Given the description of an element on the screen output the (x, y) to click on. 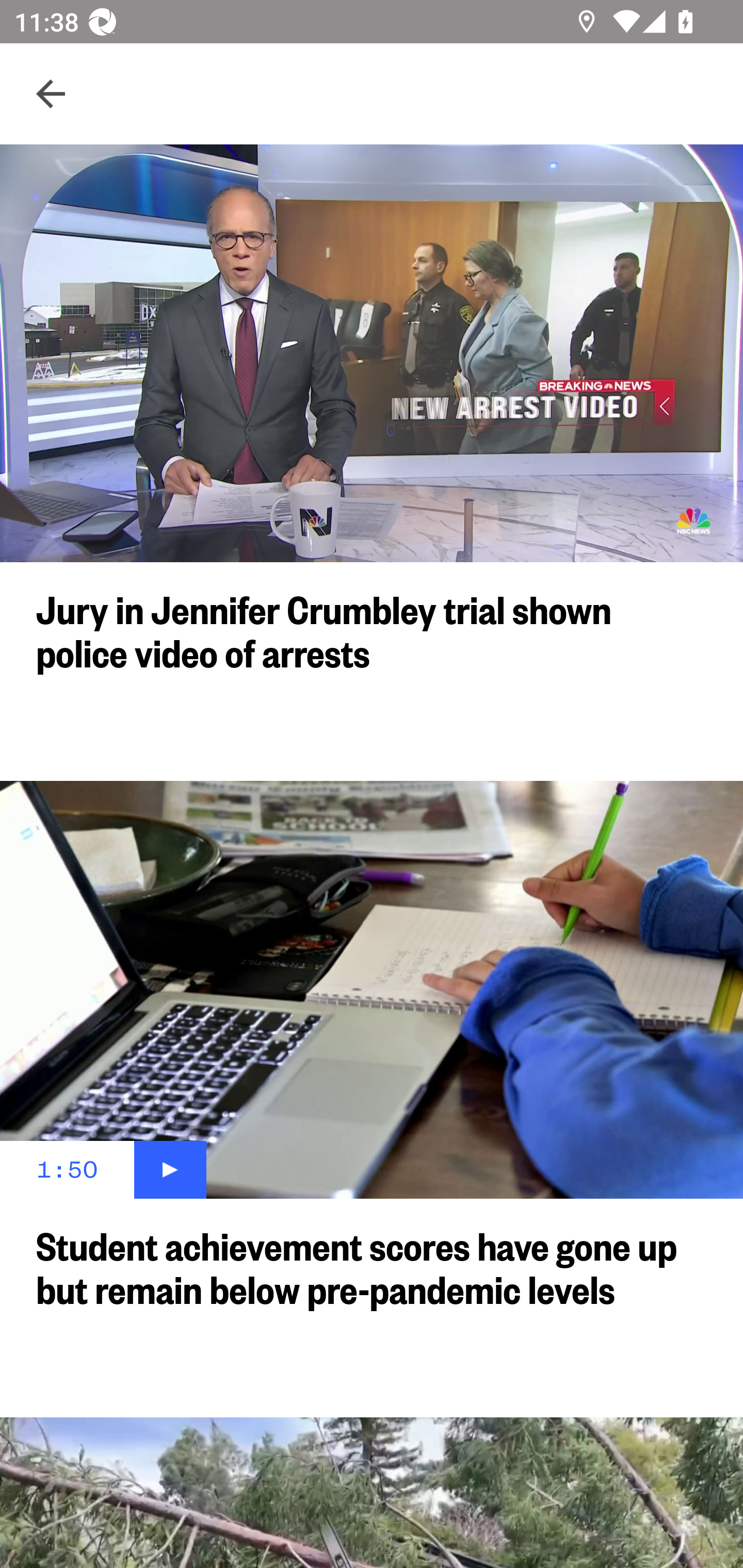
Navigate up (50, 93)
